Given the description of an element on the screen output the (x, y) to click on. 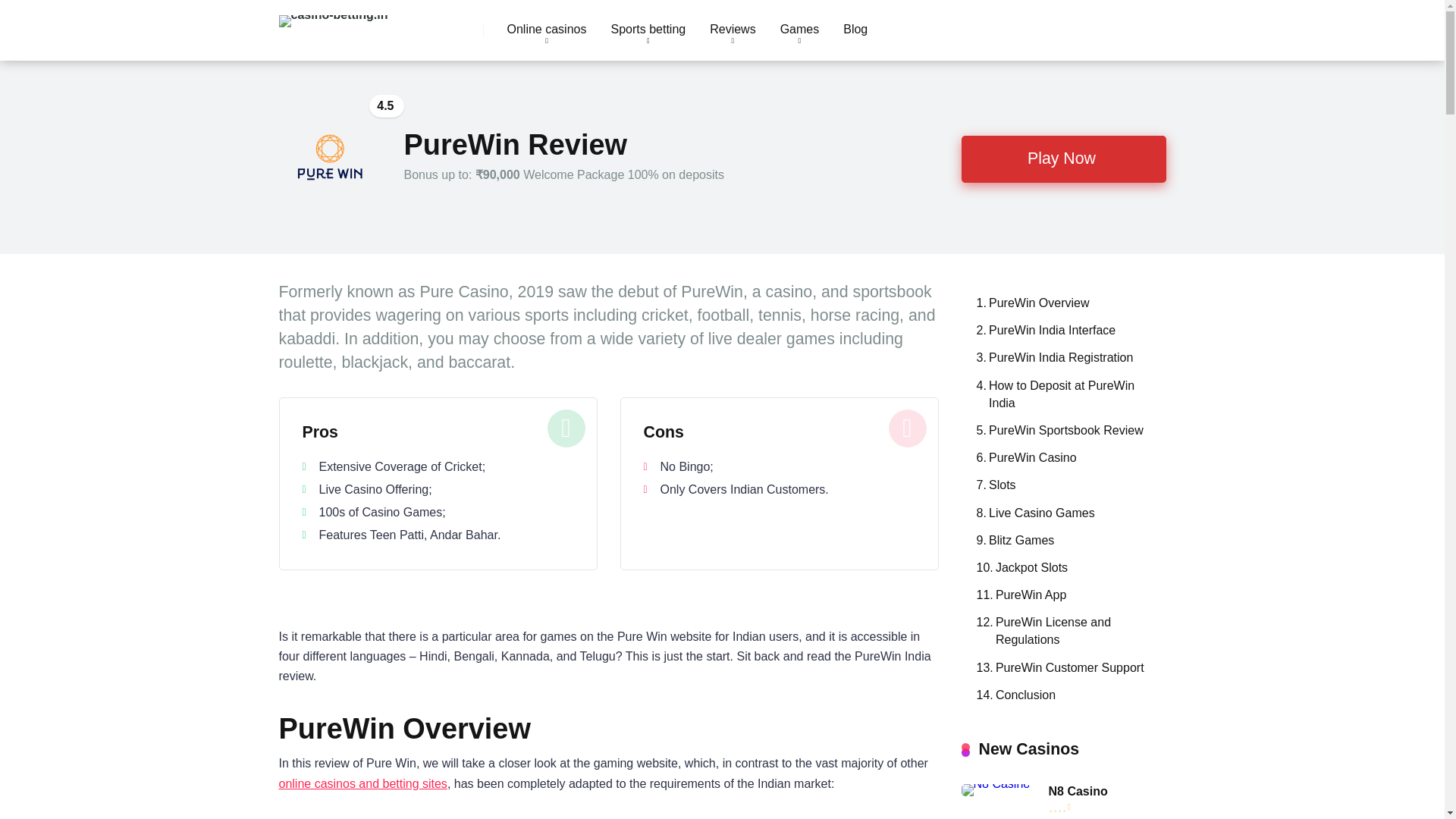
PureWin App (1018, 593)
Slots (992, 483)
PureWin Overview (1029, 301)
PureWin India Registration (1051, 356)
Live Casino Games (1031, 510)
Play Now (1063, 158)
Reviews (732, 30)
Jackpot Slots (1018, 565)
Games (799, 30)
